Given the description of an element on the screen output the (x, y) to click on. 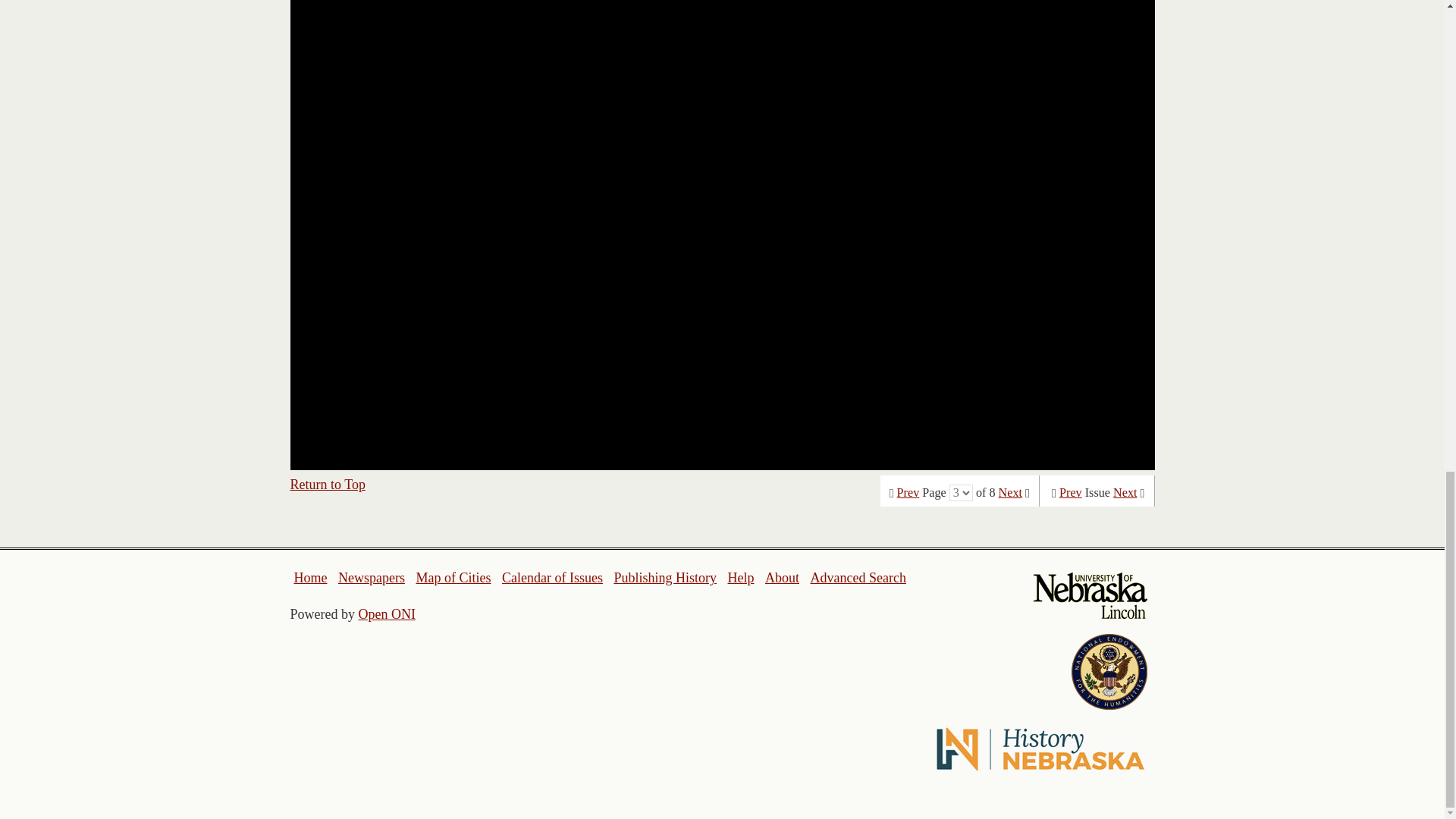
Prev (908, 492)
Next (1125, 492)
Help (740, 577)
Prev (1070, 492)
Publishing History (664, 577)
Map of Cities (452, 577)
Open ONI (386, 613)
About (782, 577)
Home (310, 577)
Next (1010, 492)
Newspapers (370, 577)
Calendar of Issues (552, 577)
Return to Top (327, 484)
Advanced Search (857, 577)
